Given the description of an element on the screen output the (x, y) to click on. 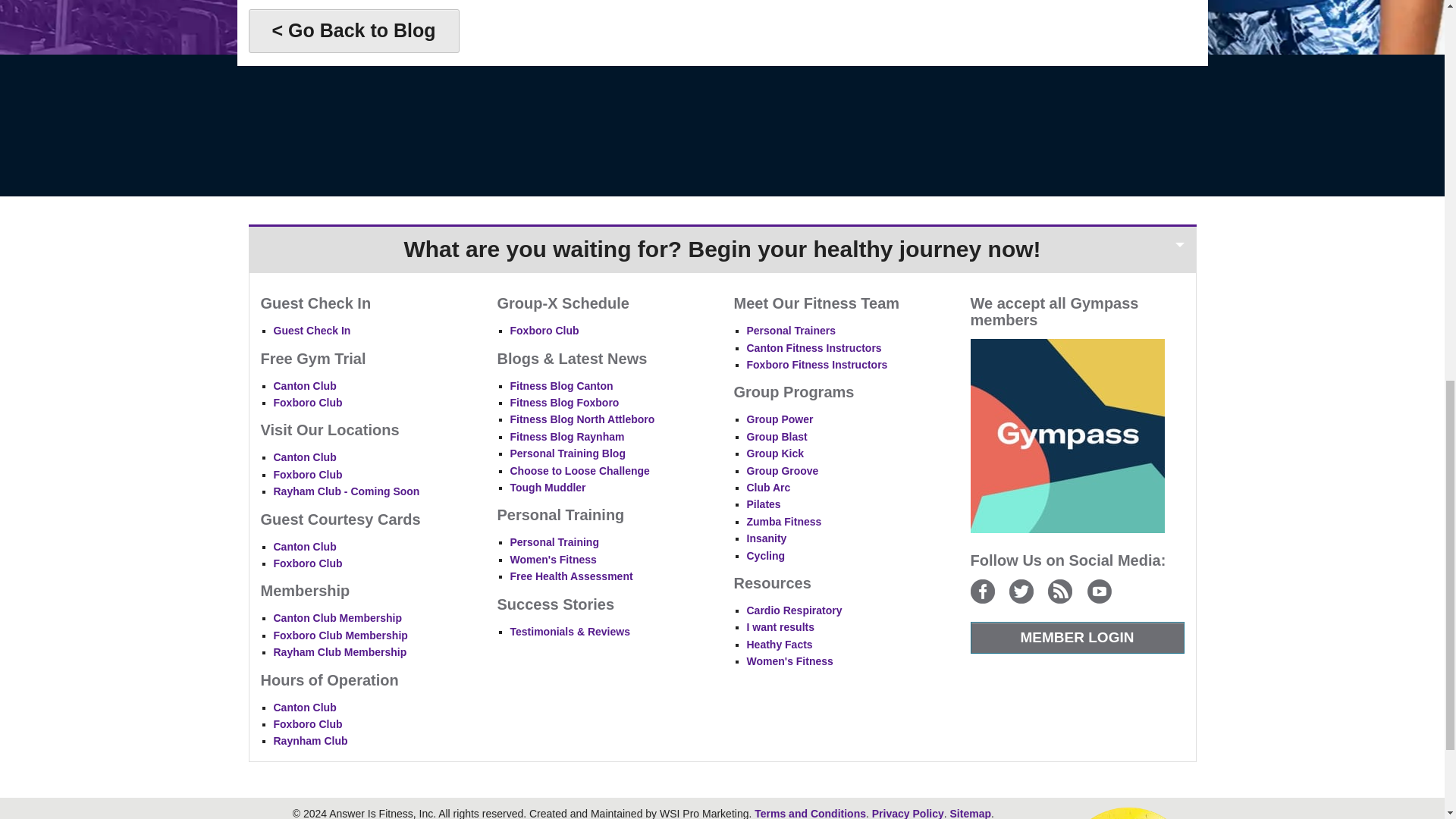
Twitter (1021, 591)
Reader's Choice Award Winner (1128, 812)
RSS (1059, 591)
Facebook (982, 591)
